Given the description of an element on the screen output the (x, y) to click on. 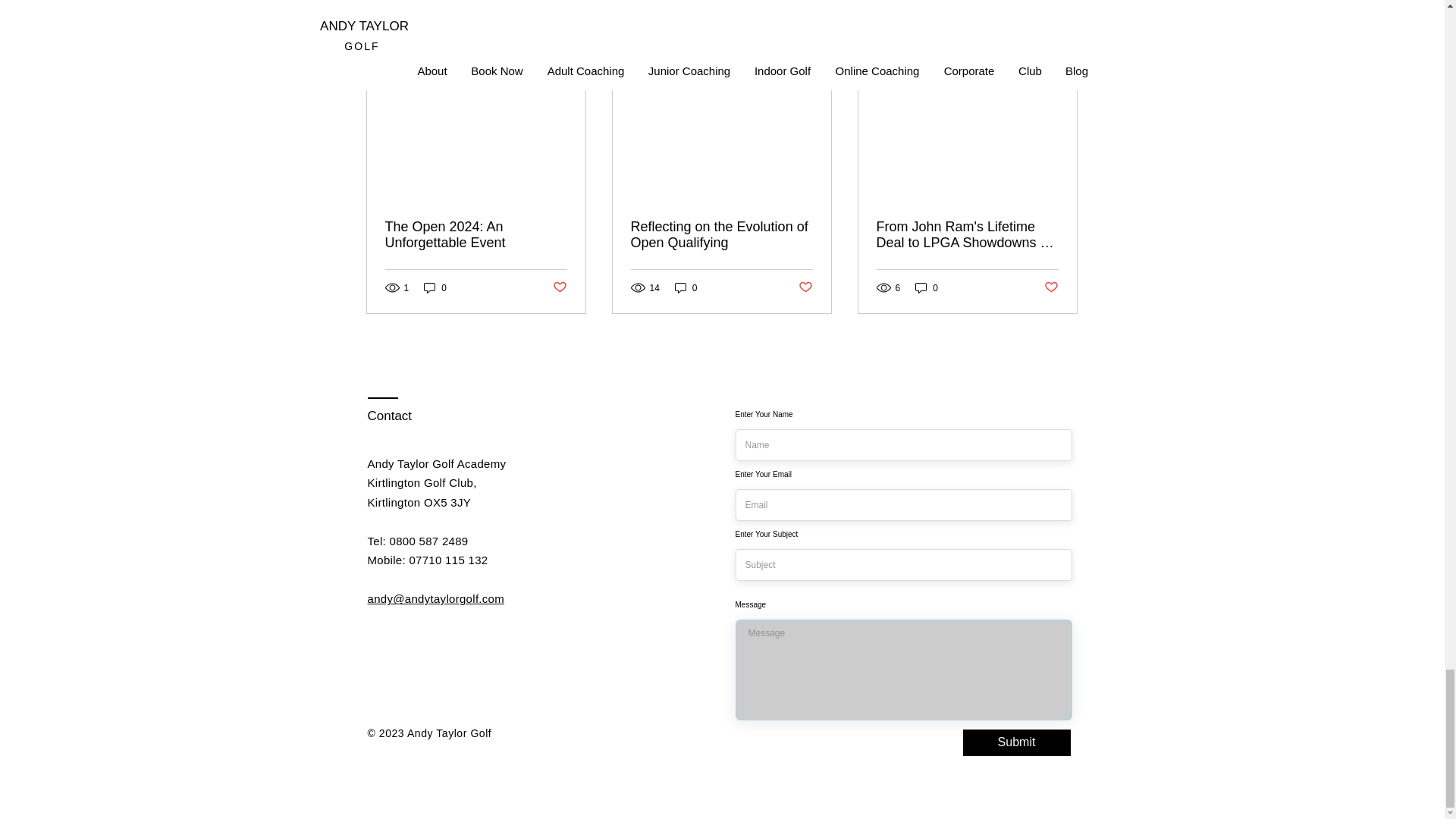
Post not marked as liked (1050, 287)
Post not marked as liked (558, 287)
0 (435, 287)
0 (926, 287)
Post not marked as liked (804, 287)
The Open 2024: An Unforgettable Event (476, 234)
Reflecting on the Evolution of Open Qualifying (721, 234)
0 (685, 287)
See All (1061, 51)
